Given the description of an element on the screen output the (x, y) to click on. 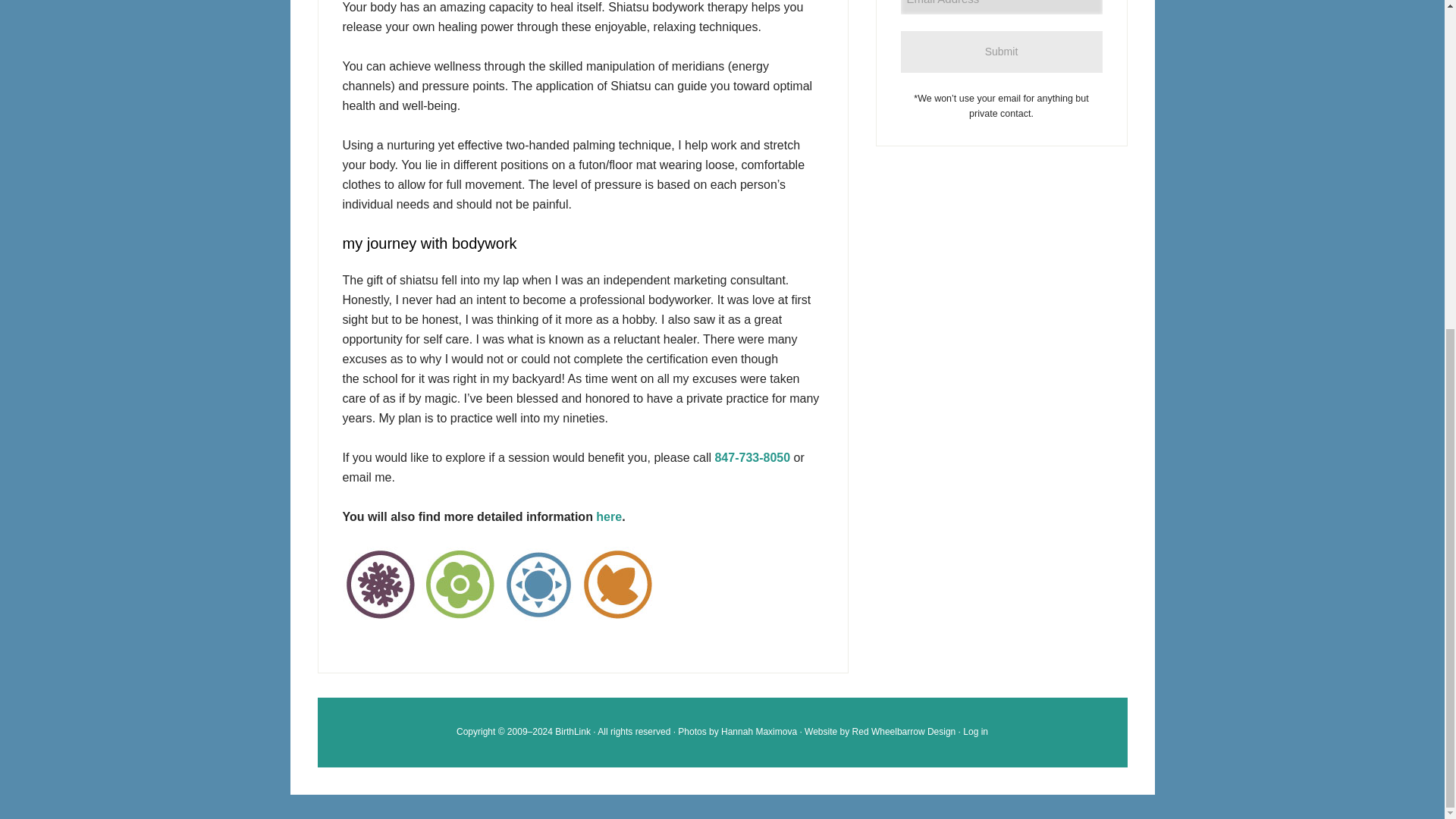
Submit (1001, 51)
here (608, 516)
847-733-8050 (752, 457)
Submit (1001, 51)
Log in (975, 731)
